Given the description of an element on the screen output the (x, y) to click on. 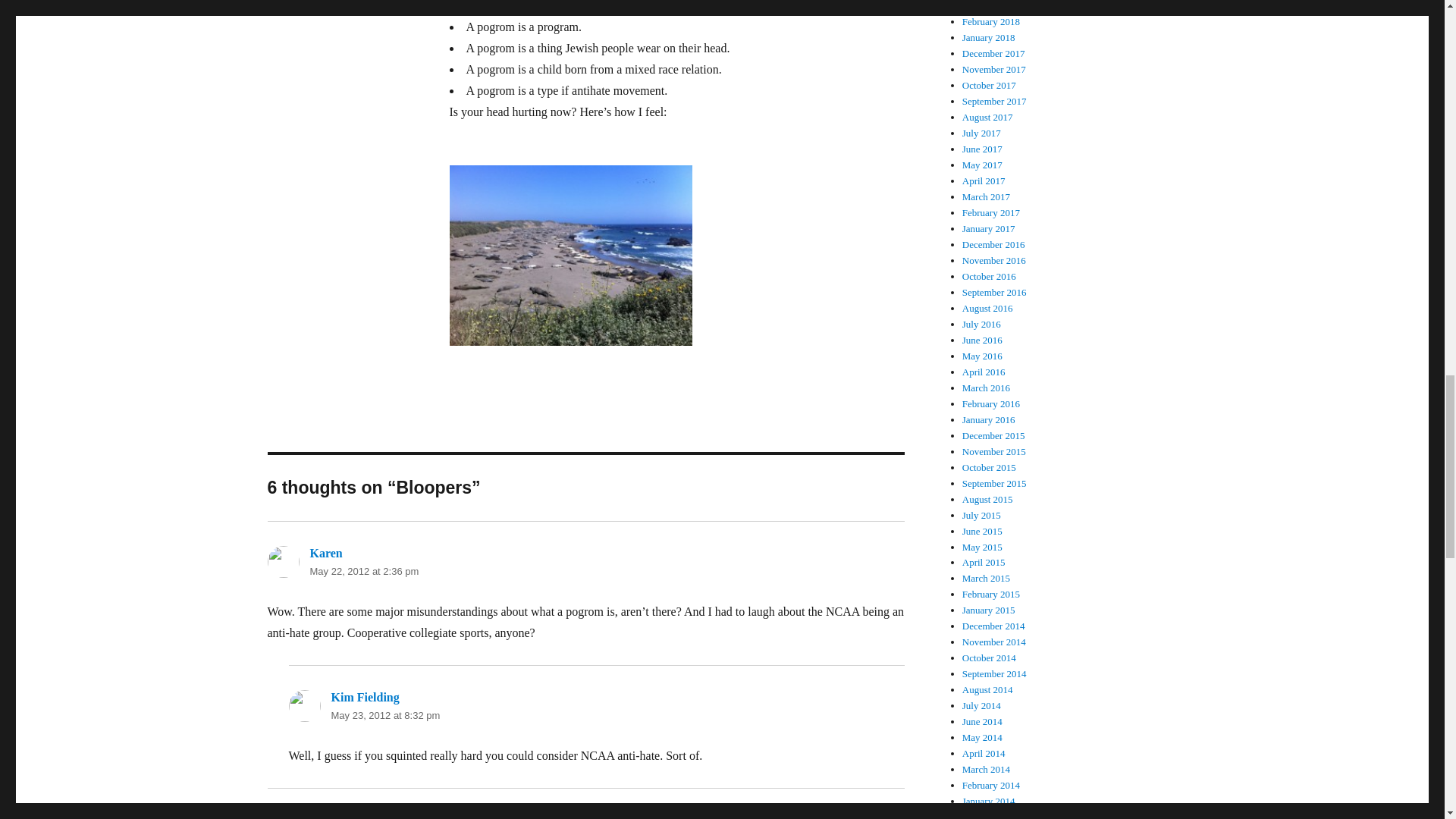
Kim Fielding (364, 697)
K. Z. Snow (337, 816)
May 22, 2012 at 2:36 pm (363, 571)
May 23, 2012 at 8:32 pm (384, 715)
Karen (325, 553)
